Given the description of an element on the screen output the (x, y) to click on. 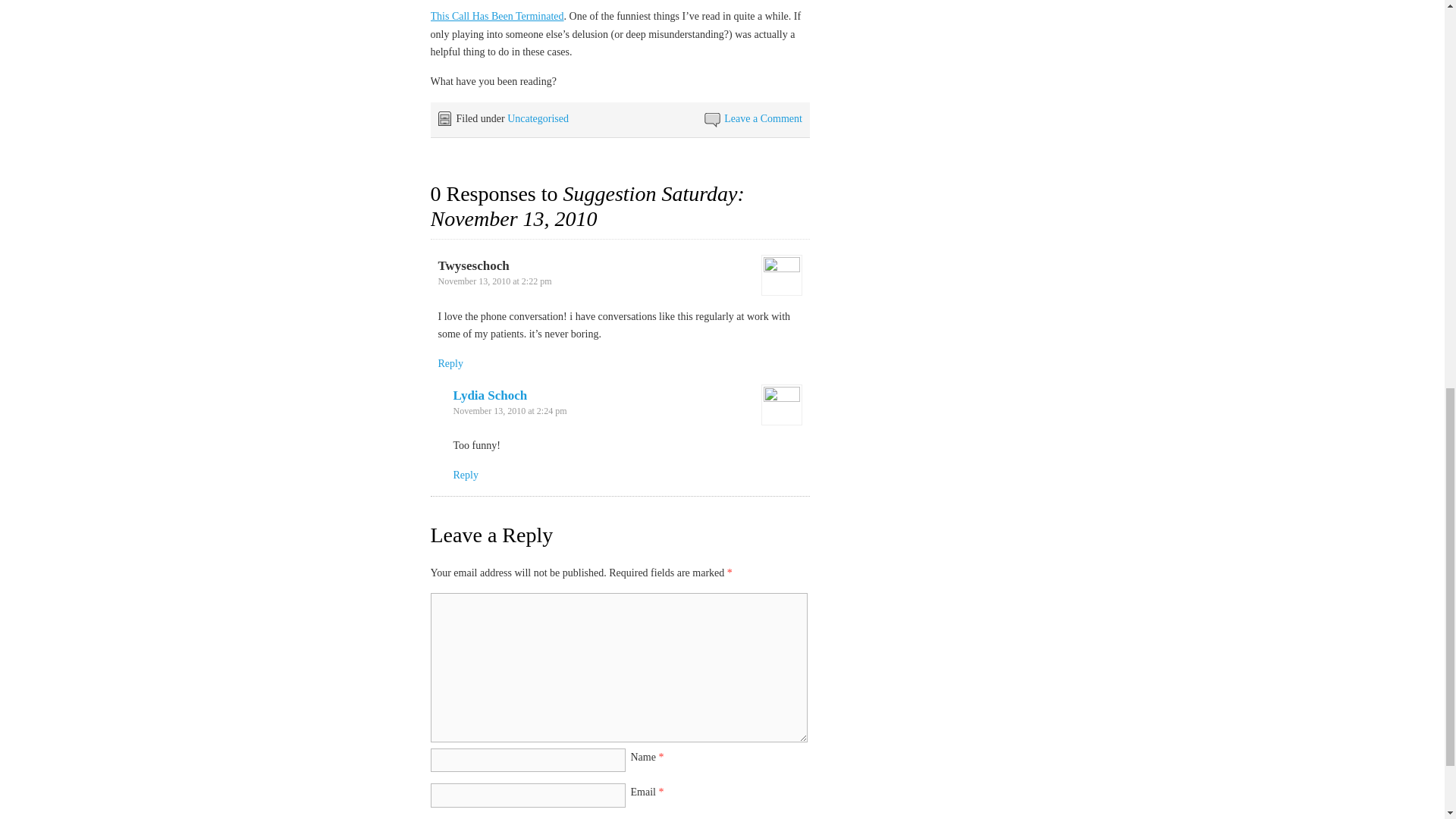
Reply (450, 363)
Lydia Schoch (489, 395)
This Call Has Been Terminated (497, 16)
Uncategorised (537, 118)
November 13, 2010 at 2:24 pm (509, 410)
Leave a Comment (762, 118)
Reply (465, 474)
November 13, 2010 at 2:22 pm (494, 281)
